Given the description of an element on the screen output the (x, y) to click on. 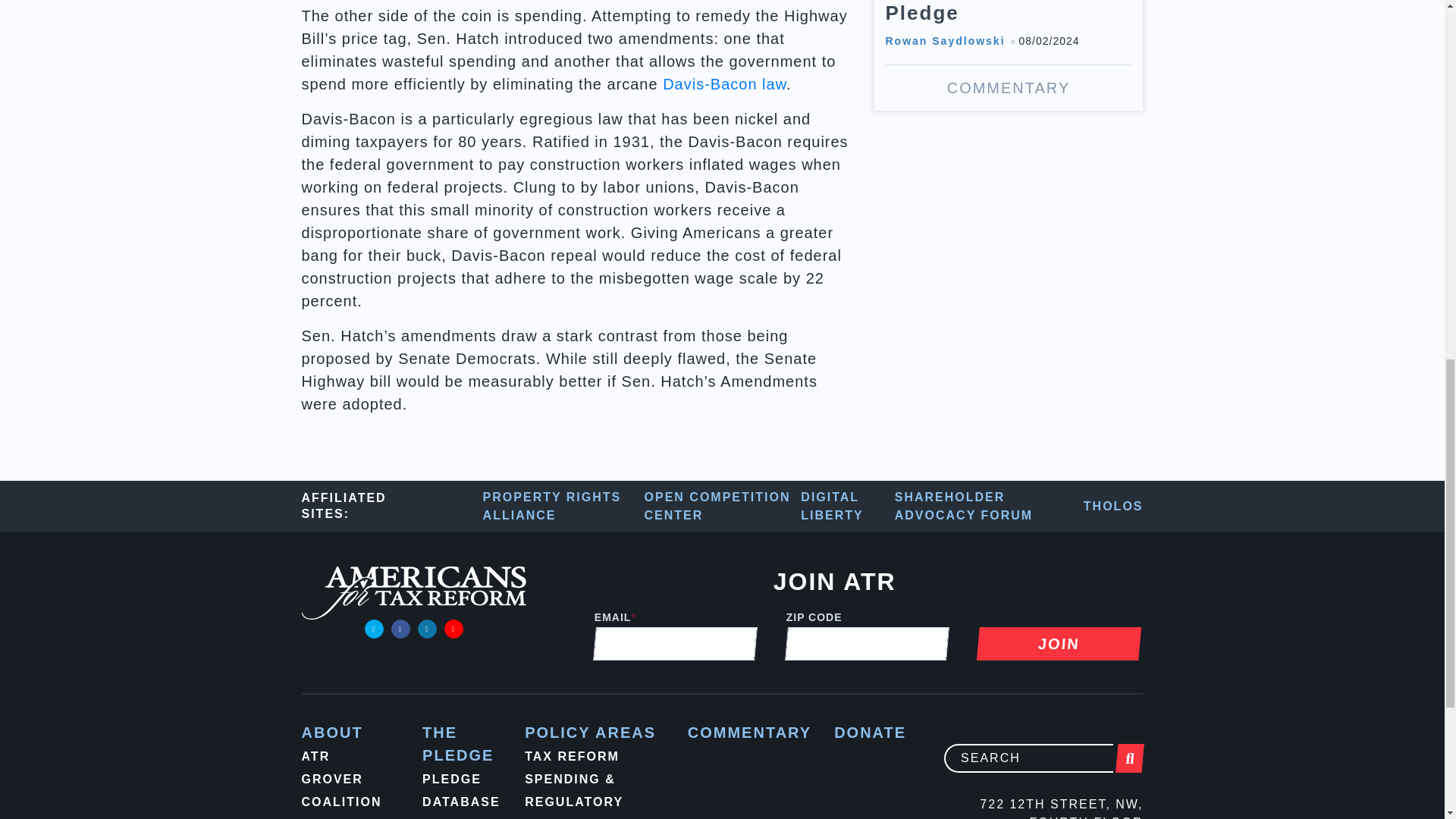
Davis-Bacon law (724, 84)
PROPERTY RIGHTS ALLIANCE (564, 506)
Join (1057, 643)
